Given the description of an element on the screen output the (x, y) to click on. 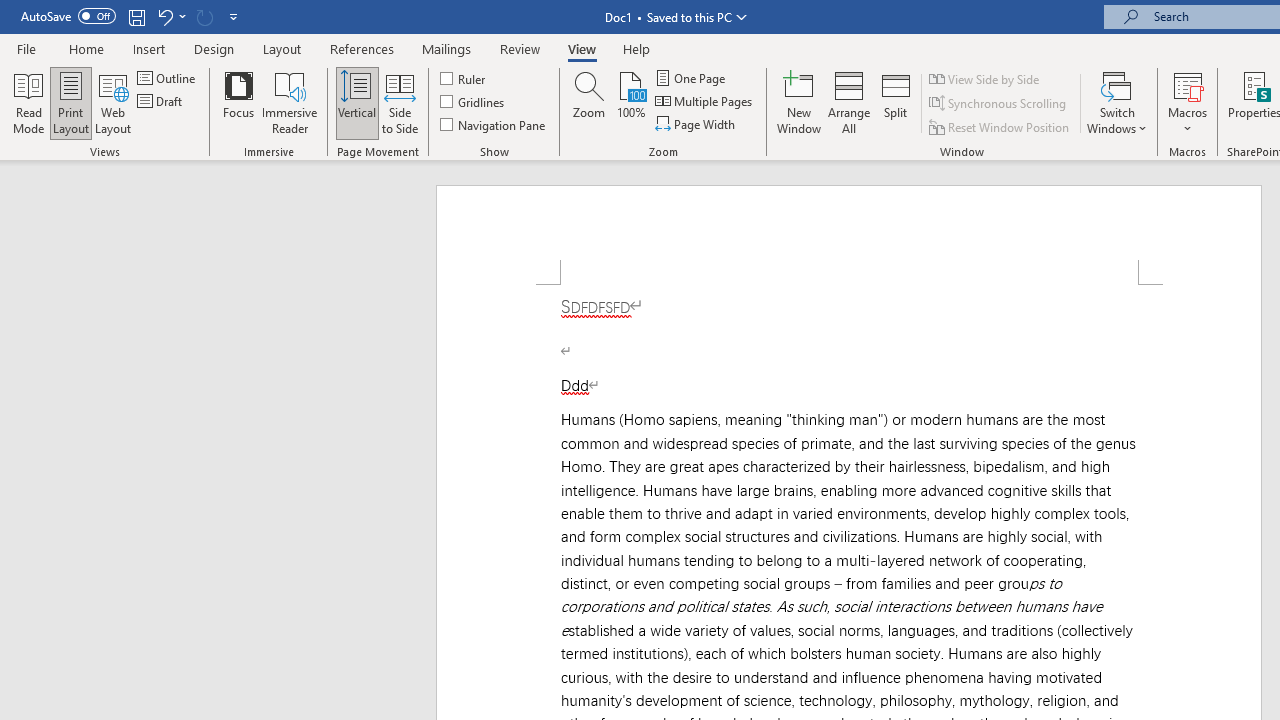
Design (214, 48)
Navigation Pane (493, 124)
Read Mode (28, 102)
Mailings (447, 48)
Multiple Pages (705, 101)
System (10, 11)
View (582, 48)
Ruler (463, 78)
100% (630, 102)
New Window (799, 102)
Page Width (696, 124)
Reset Window Position (1000, 126)
Quick Access Toolbar (131, 16)
Immersive Reader (289, 102)
